Given the description of an element on the screen output the (x, y) to click on. 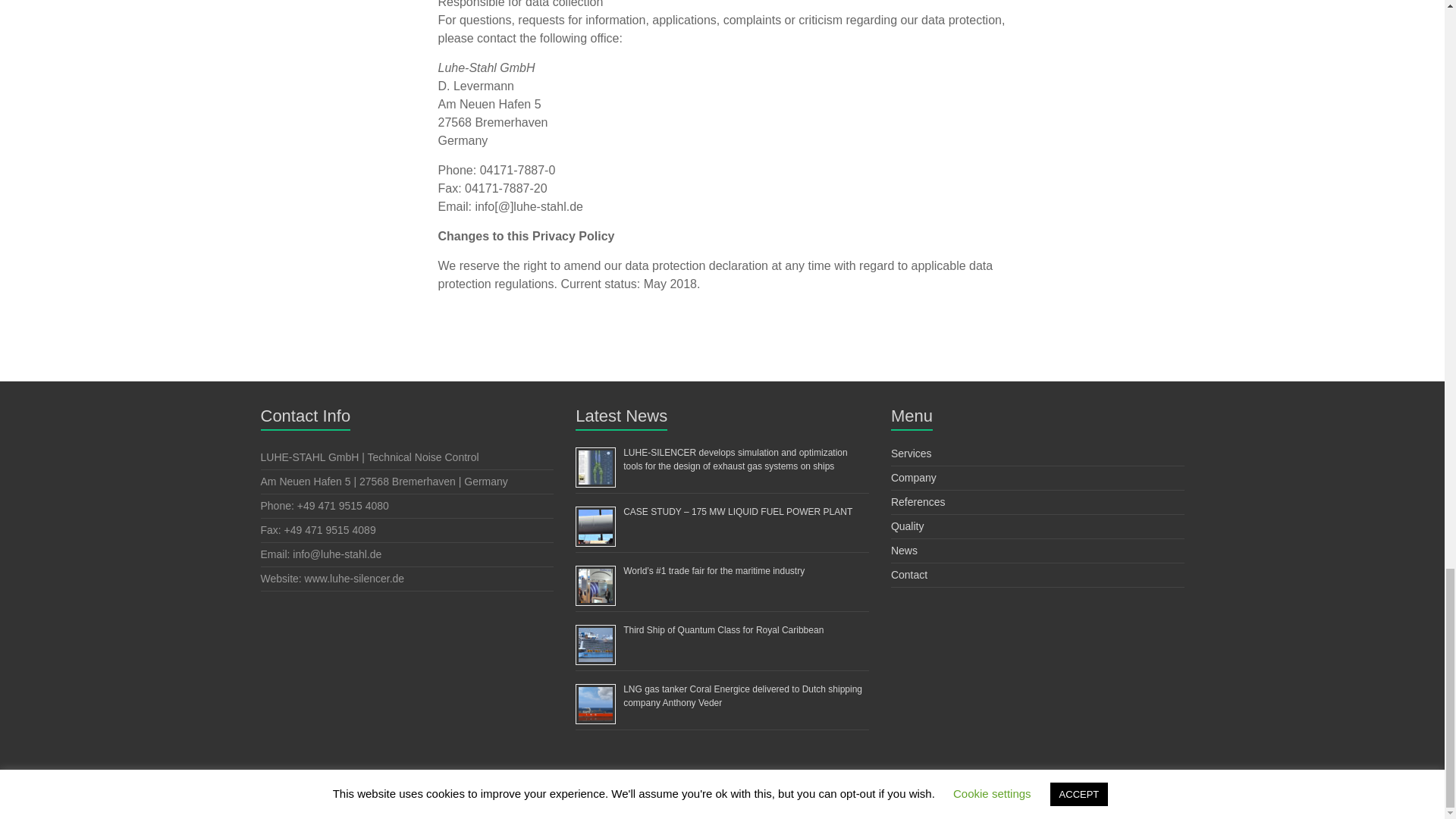
References (917, 501)
ThemeGrill (546, 801)
Third Ship of Quantum Class for Royal Caribbean (723, 629)
IMPRINT (1082, 803)
Quality (907, 526)
WordPress (411, 801)
DATA PRIVACY (1146, 803)
Services (911, 453)
WordPress (411, 801)
Contact (909, 574)
Permalink to Third Ship of Quantum Class for Royal Caribbean (723, 629)
ThemeGrill (546, 801)
